Given the description of an element on the screen output the (x, y) to click on. 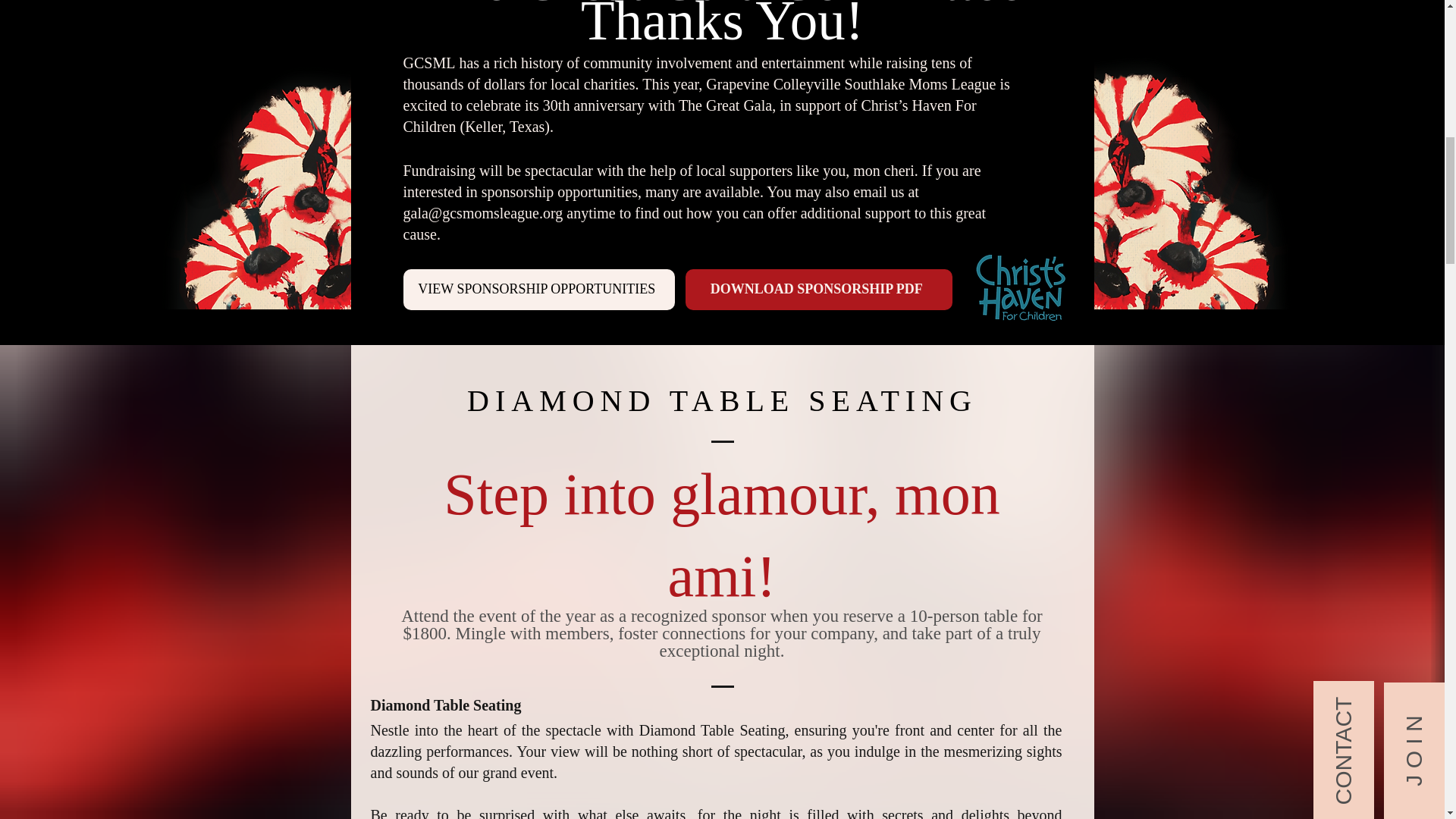
DOWNLOAD SPONSORSHIP PDF (818, 289)
VIEW SPONSORSHIP OPPORTUNITIES (539, 289)
